Given the description of an element on the screen output the (x, y) to click on. 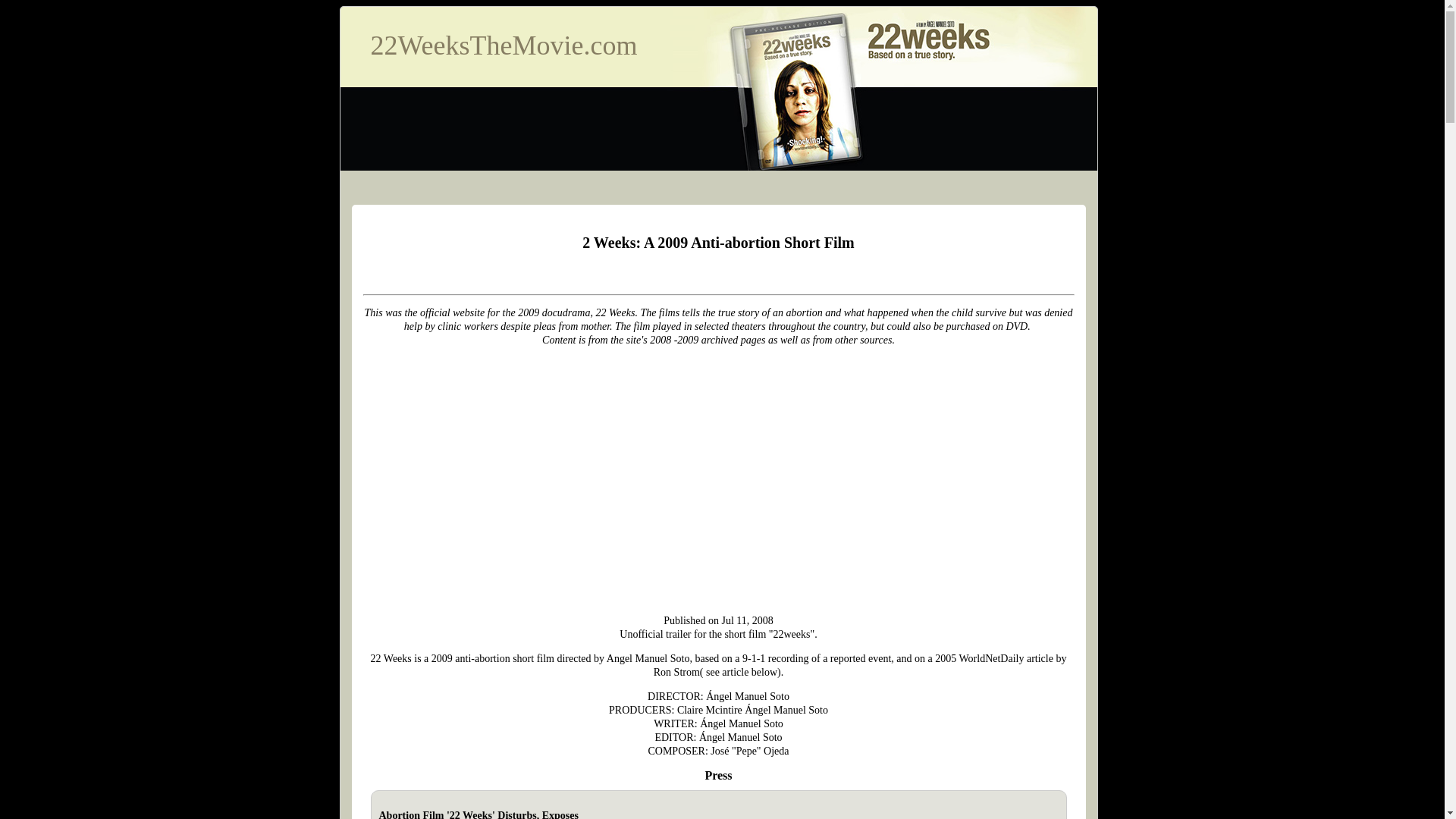
22WeeksTheMovie.com Element type: text (503, 45)
